Given the description of an element on the screen output the (x, y) to click on. 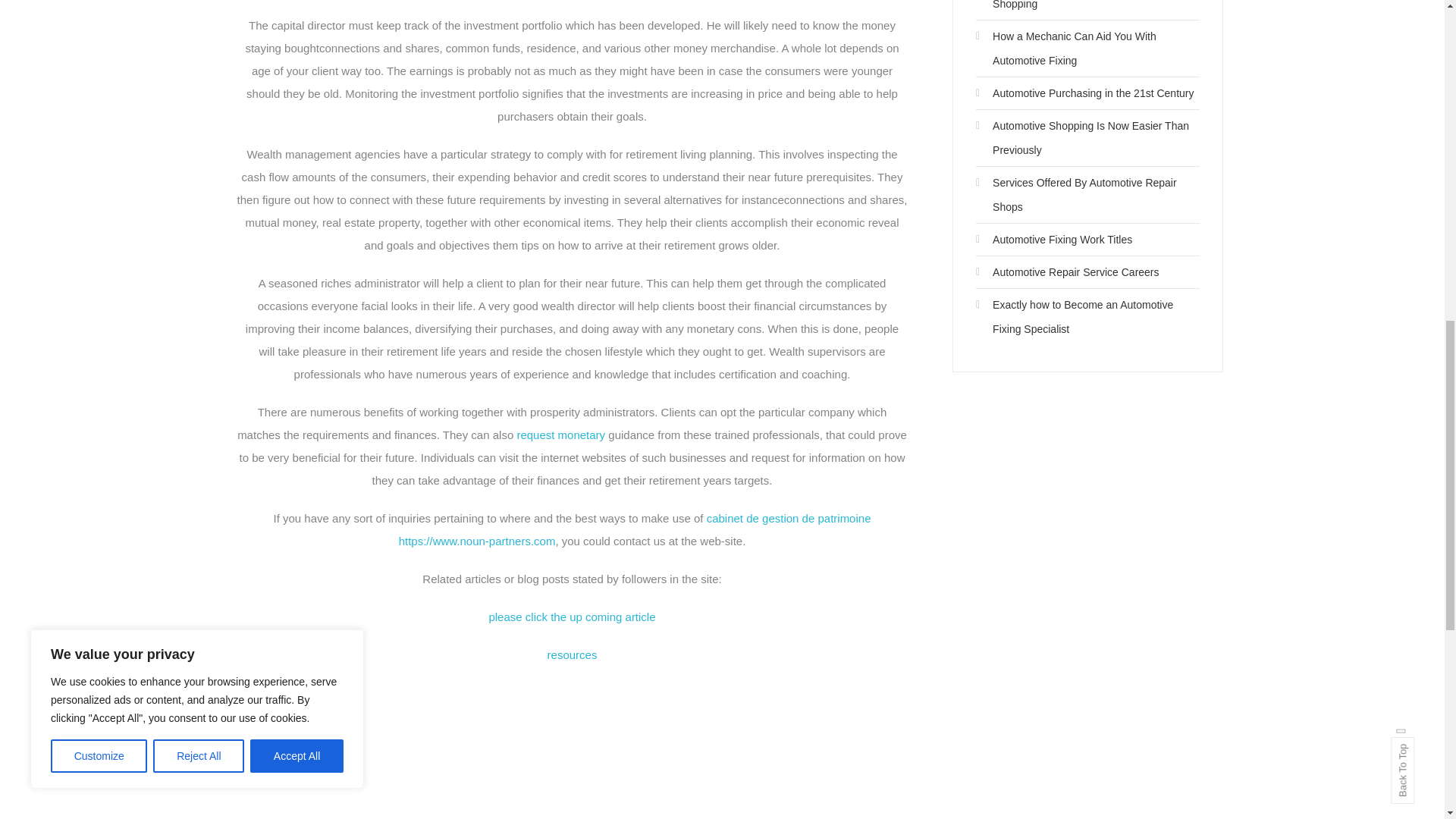
please click the up coming article (571, 616)
request monetary (560, 434)
resources (571, 654)
